Given the description of an element on the screen output the (x, y) to click on. 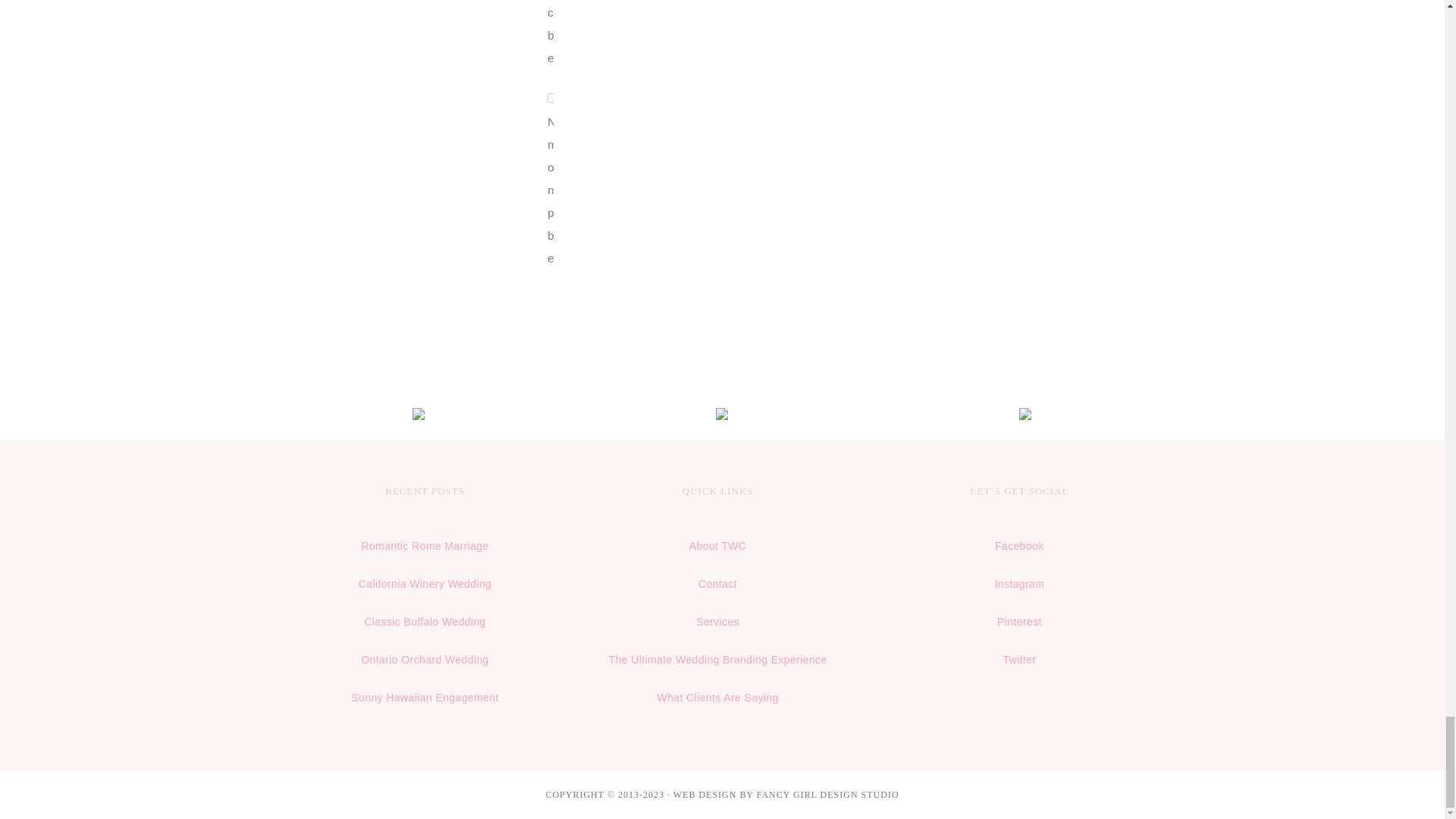
subscribe (552, 98)
